Given the description of an element on the screen output the (x, y) to click on. 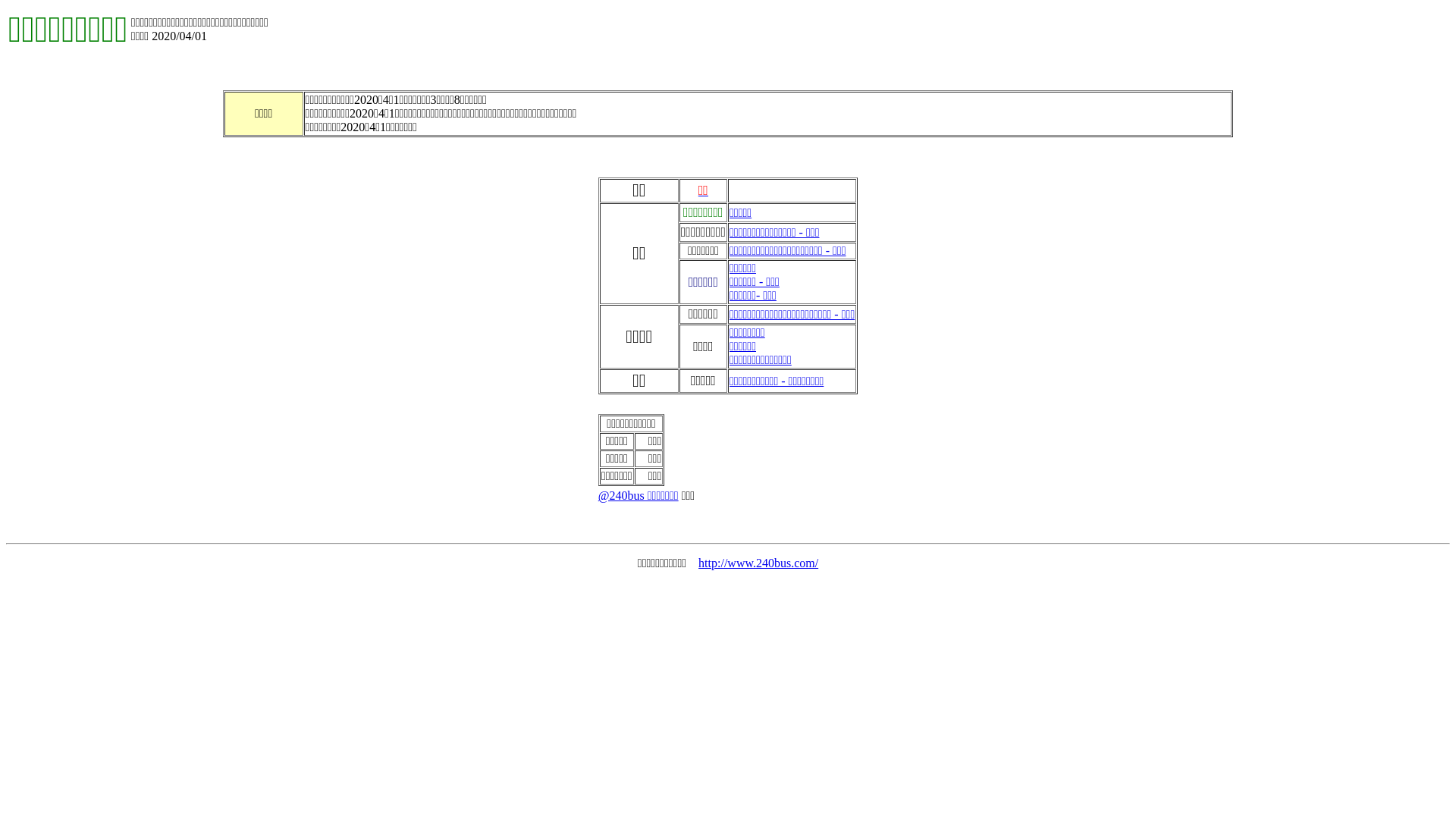
http://www.240bus.com/ Element type: text (758, 562)
